Given the description of an element on the screen output the (x, y) to click on. 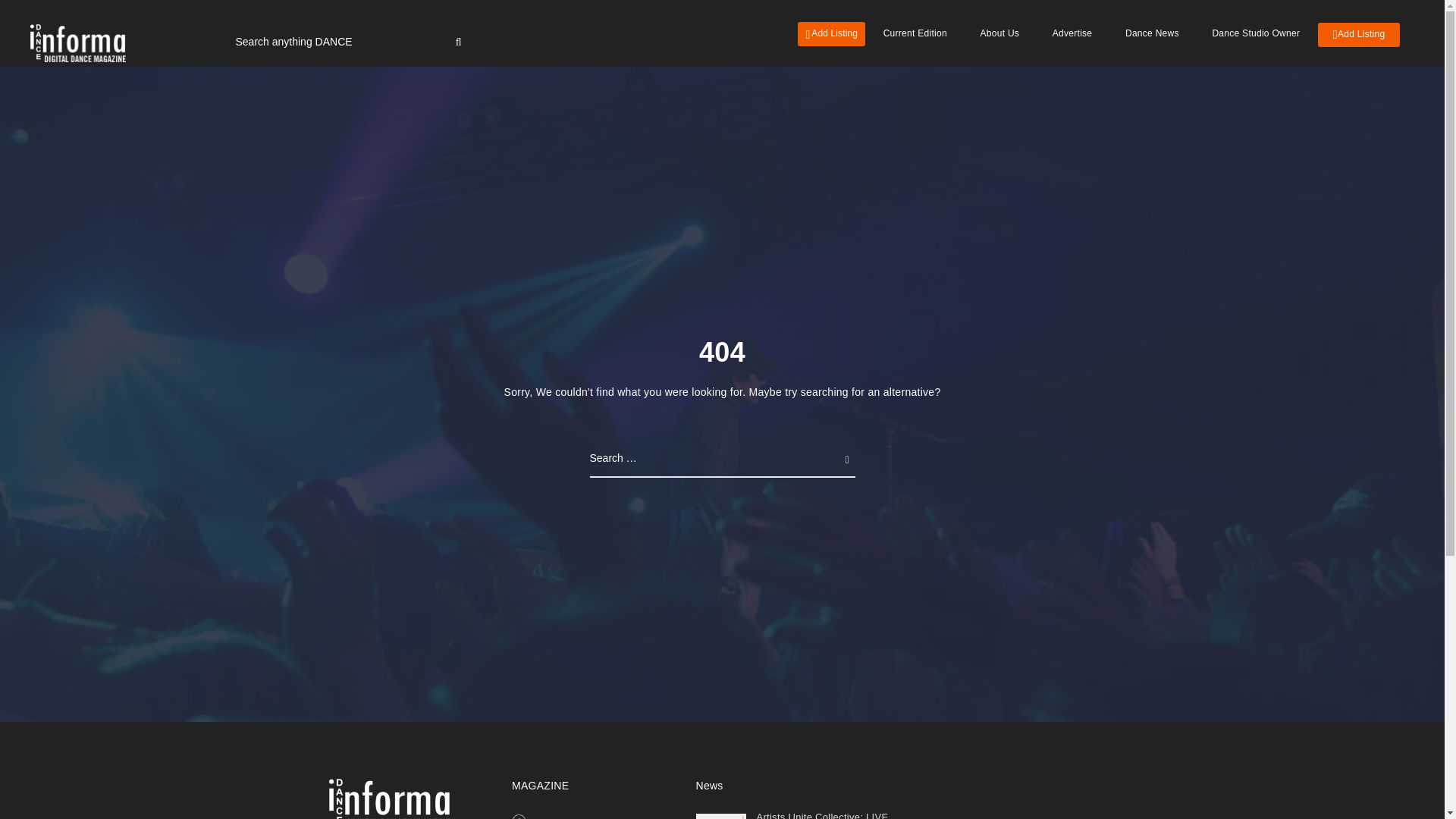
Add Listing (1358, 34)
Current Edition (914, 33)
Advertise (1072, 33)
Dance News (1151, 33)
Dance Studio Owner (1255, 33)
About Us (1000, 33)
Current Edition (569, 817)
Add Listing (830, 33)
